Given the description of an element on the screen output the (x, y) to click on. 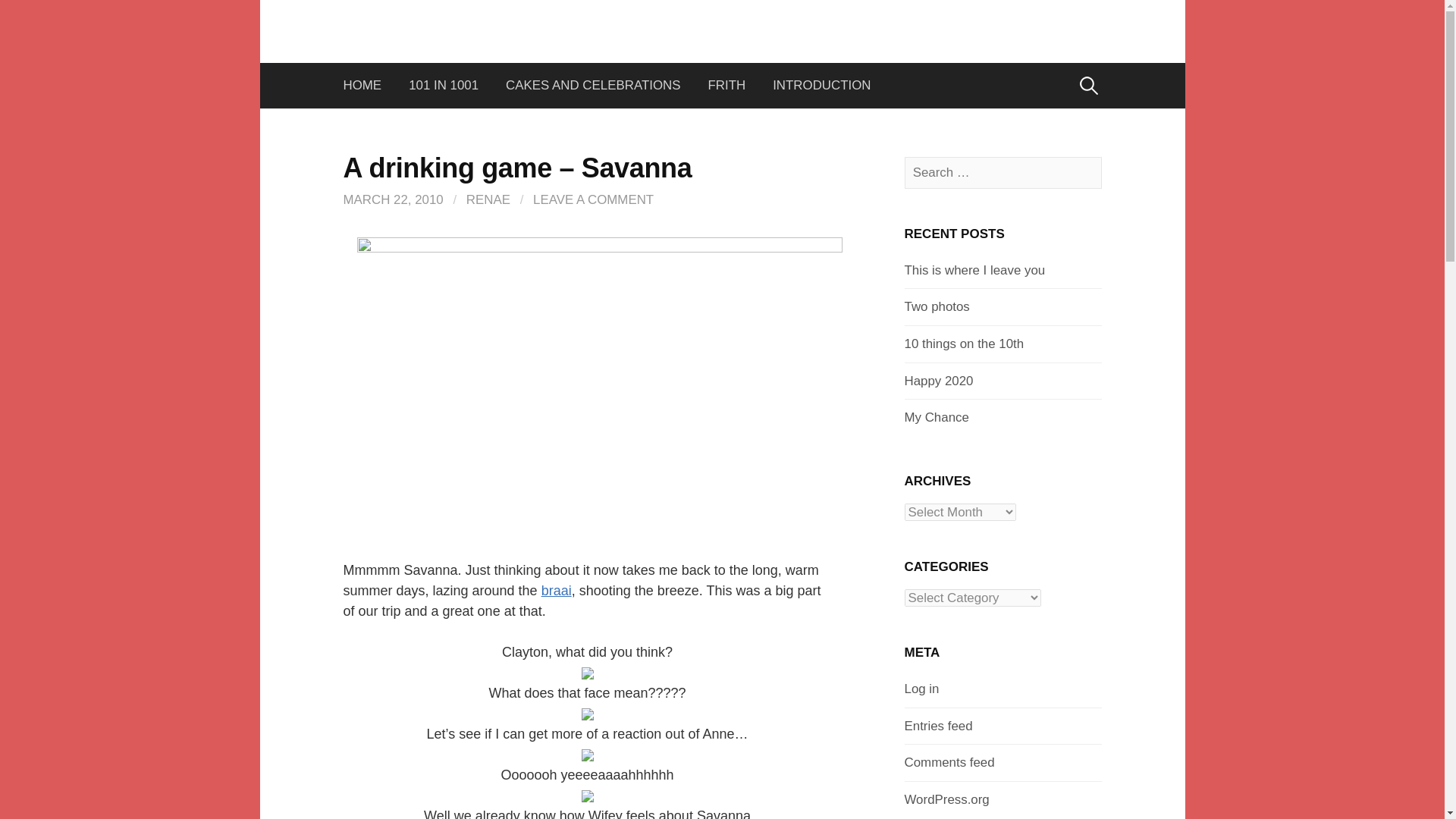
WordPress.org (946, 799)
CAKES AND CELEBRATIONS (593, 85)
Comments feed (949, 762)
HOME (368, 85)
My Chance (936, 417)
Search (40, 16)
INTRODUCTION (820, 85)
braai (556, 590)
Entries feed (938, 726)
Log in (921, 688)
LEAVE A COMMENT (592, 199)
10 things on the 10th (963, 343)
Two photos (936, 306)
Happy 2020 (938, 380)
